Given the description of an element on the screen output the (x, y) to click on. 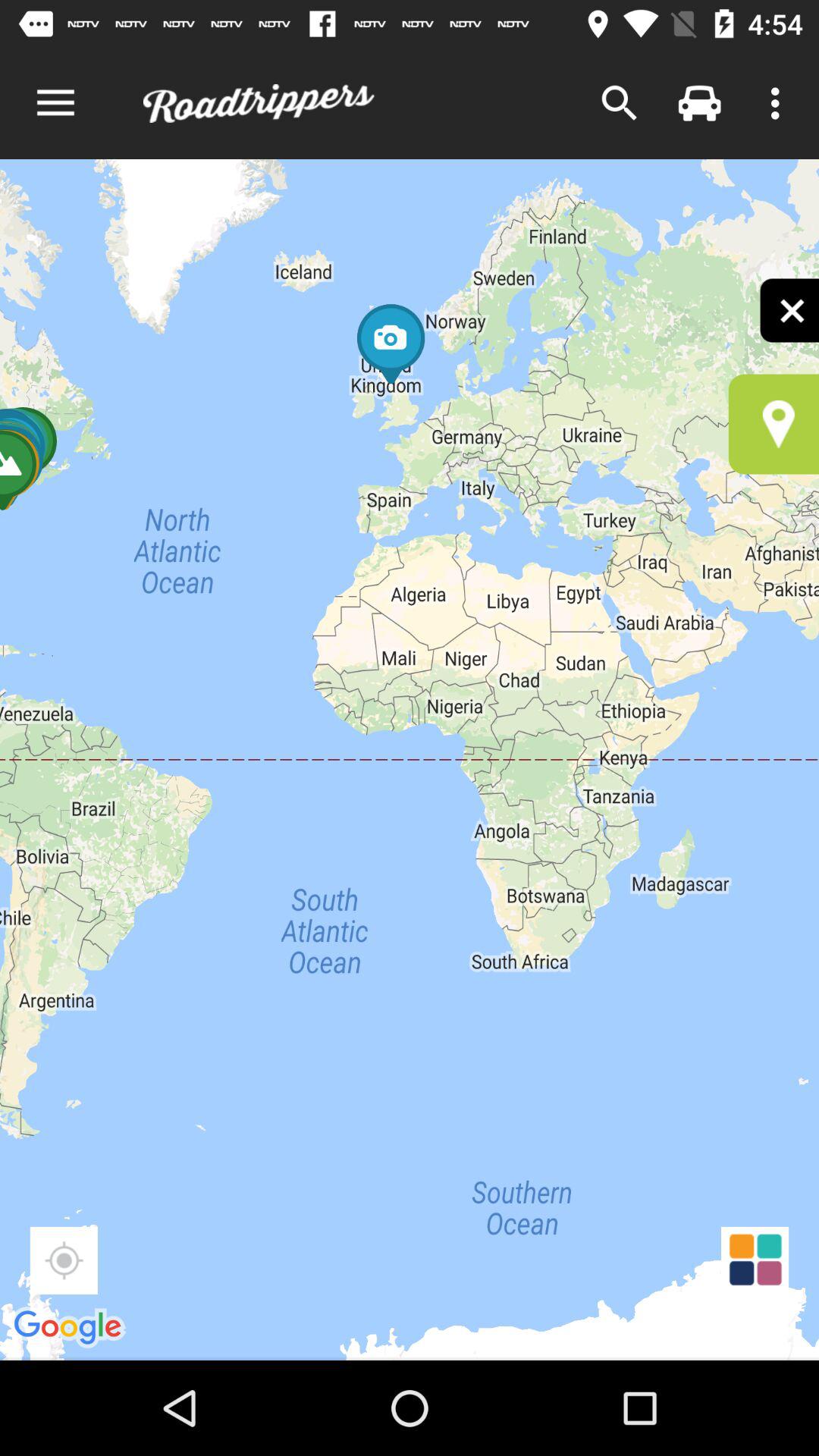
choose the item at the bottom right corner (754, 1260)
